Given the description of an element on the screen output the (x, y) to click on. 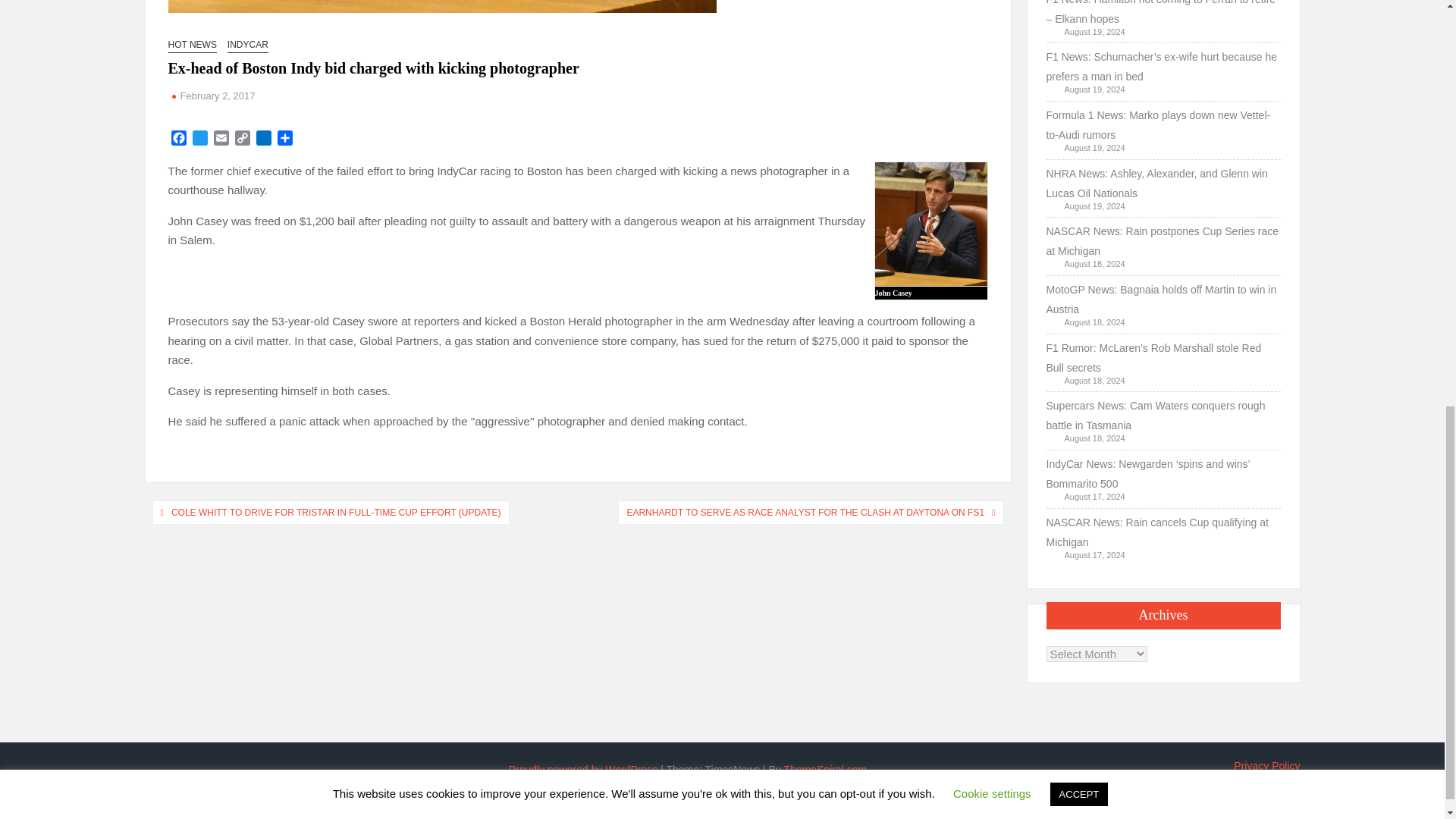
Social Media Auto Publish (665, 804)
Copy Link (242, 139)
Twitter (200, 139)
Outlook.com (264, 139)
Email (221, 139)
Facebook (178, 139)
